Given the description of an element on the screen output the (x, y) to click on. 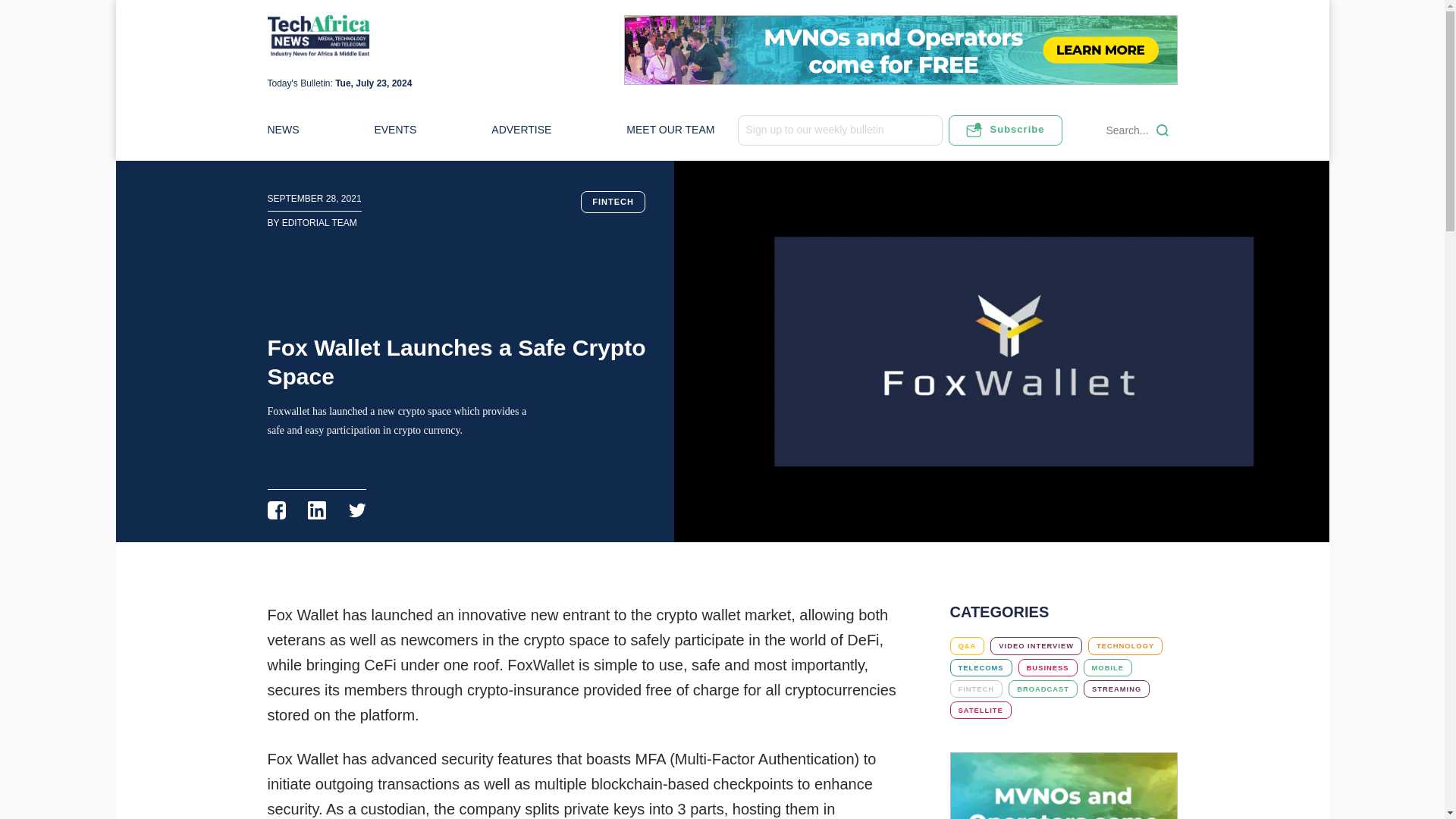
MOBILE (1107, 667)
Subscribe (1004, 130)
BUSINESS (1047, 667)
SATELLITE (979, 710)
STREAMING (1116, 688)
Search (1162, 130)
VIDEO INTERVIEW (1035, 645)
TECHNOLOGY (1124, 645)
TELECOMS (980, 667)
BROADCAST (1043, 688)
ADVERTISE (521, 129)
Search (1162, 130)
MEET OUR TEAM (670, 129)
MEET OUR TEAM (670, 129)
FINTECH (976, 688)
